Given the description of an element on the screen output the (x, y) to click on. 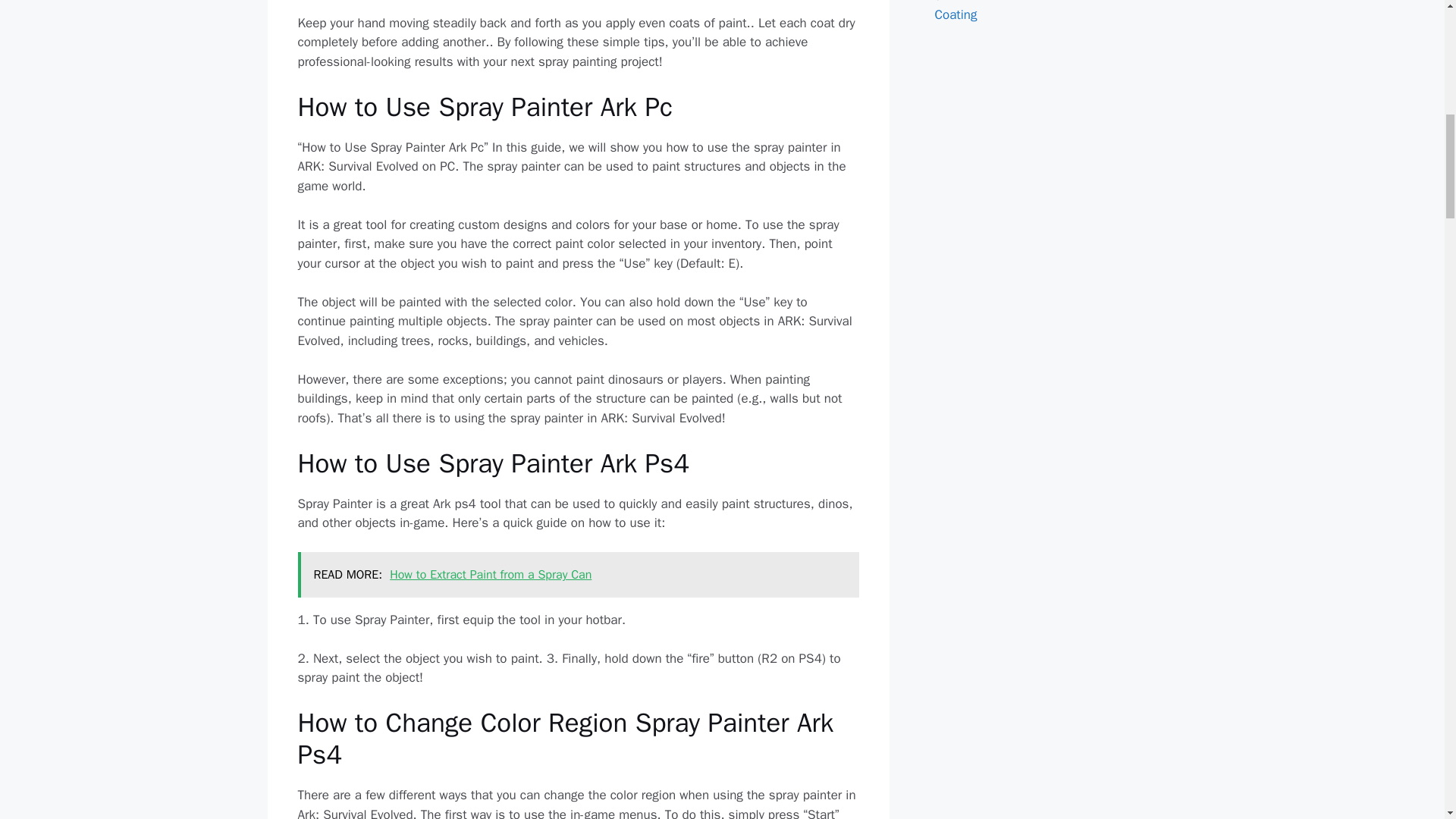
READ MORE:  How to Extract Paint from a Spray Can (578, 574)
